Given the description of an element on the screen output the (x, y) to click on. 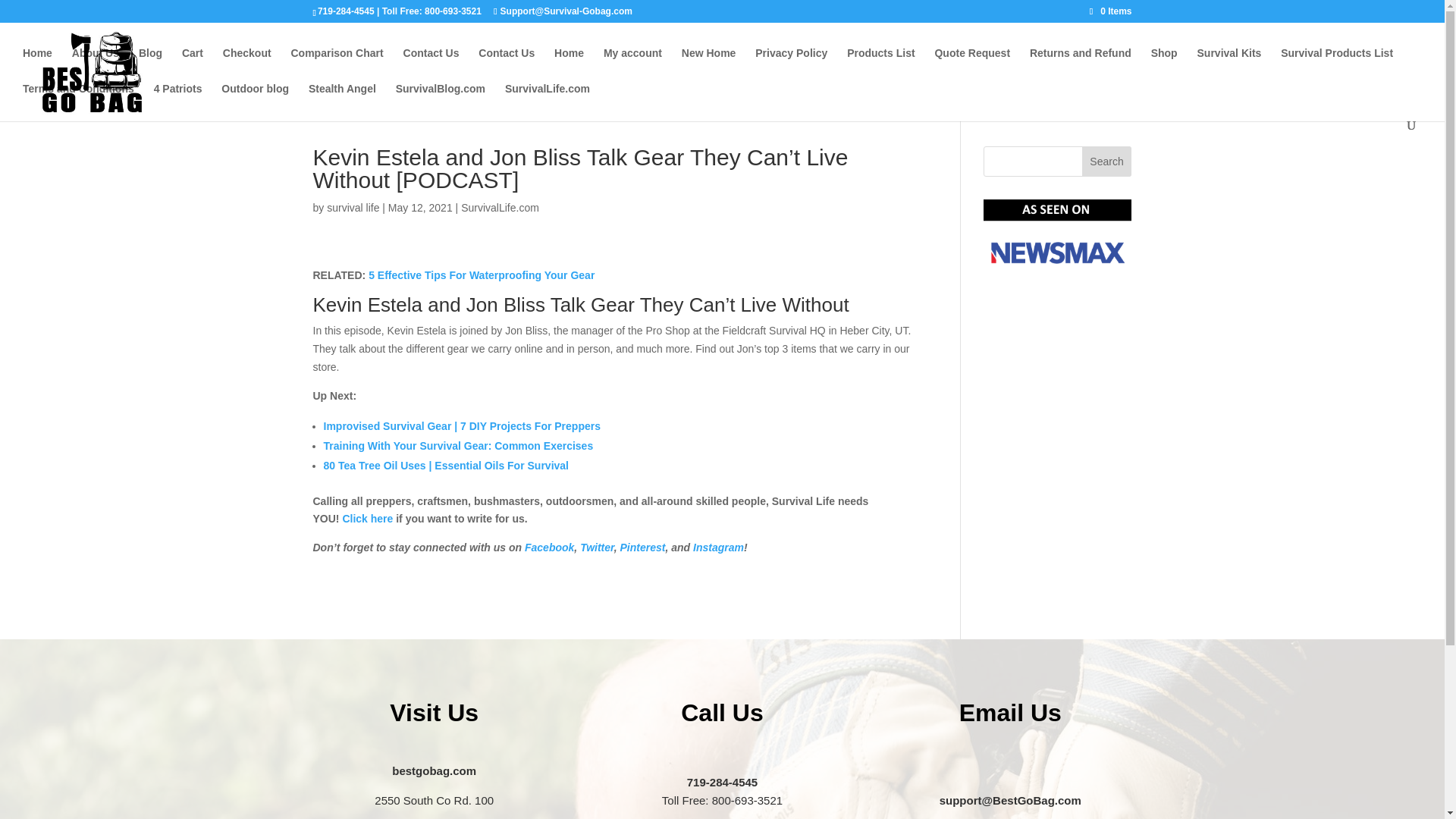
Quote Request (972, 65)
SurvivalLife.com (499, 207)
Privacy Policy (791, 65)
Stealth Angel (341, 100)
SurvivalBlog.com (440, 100)
Posts by survival life (352, 207)
Terms and Conditions (78, 100)
About Us (95, 65)
SurvivalLife.com (547, 100)
New Home (708, 65)
